Given the description of an element on the screen output the (x, y) to click on. 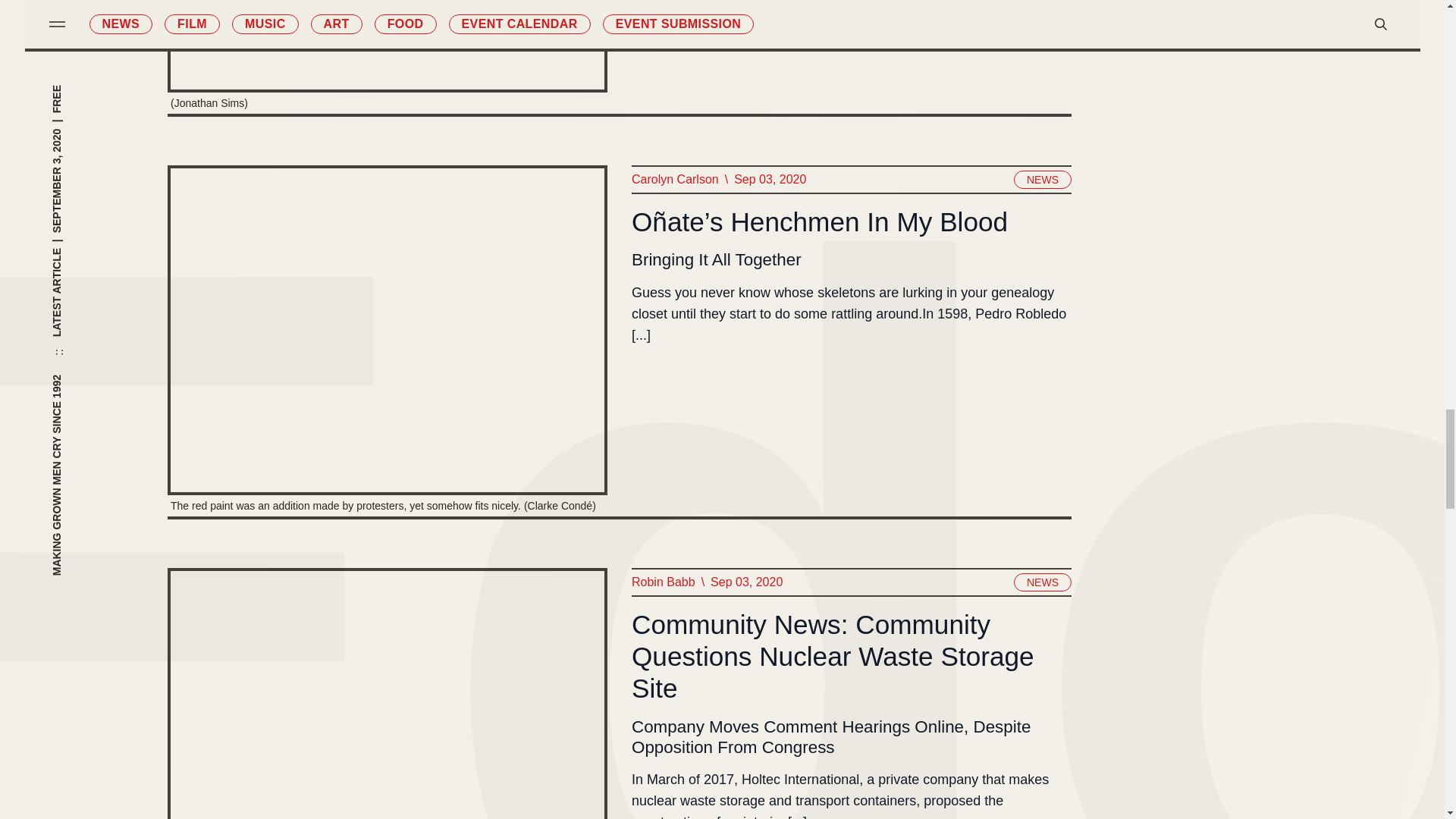
NEWS (1041, 582)
NEWS (1041, 179)
Carolyn Carlson (673, 179)
Robin Babb (662, 581)
